Given the description of an element on the screen output the (x, y) to click on. 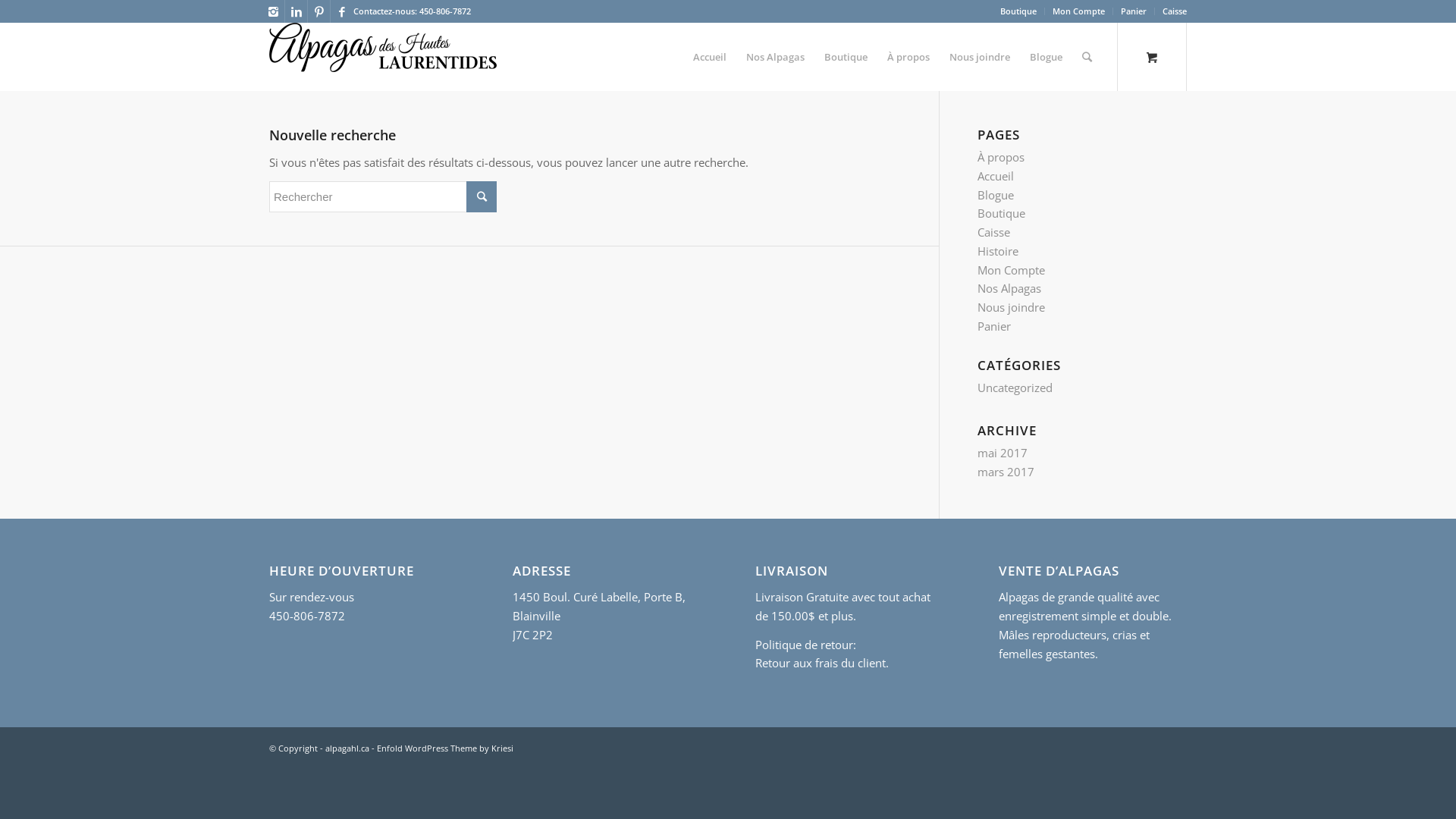
mars 2017 Element type: text (1005, 471)
mai 2017 Element type: text (1002, 452)
Pinterest Element type: hover (318, 11)
Accueil Element type: text (709, 56)
Panier Element type: text (993, 325)
Boutique Element type: text (845, 56)
Nous joindre Element type: text (979, 56)
Instagram Element type: hover (273, 11)
Boutique Element type: text (1018, 10)
Boutique Element type: text (1001, 212)
Nos Alpagas Element type: text (1009, 287)
Linkedin Element type: hover (296, 11)
Mon Compte Element type: text (1010, 269)
Histoire Element type: text (997, 250)
Blogue Element type: text (995, 194)
Facebook Element type: hover (341, 11)
Enfold WordPress Theme by Kriesi Element type: text (444, 747)
Panier Element type: text (1133, 10)
Blogue Element type: text (1045, 56)
Uncategorized Element type: text (1014, 387)
Caisse Element type: text (993, 231)
Nos Alpagas Element type: text (775, 56)
Caisse Element type: text (1174, 10)
alpagahl.ca Element type: text (347, 747)
Mon Compte Element type: text (1078, 10)
Nous joindre Element type: text (1010, 306)
Accueil Element type: text (995, 175)
